Given the description of an element on the screen output the (x, y) to click on. 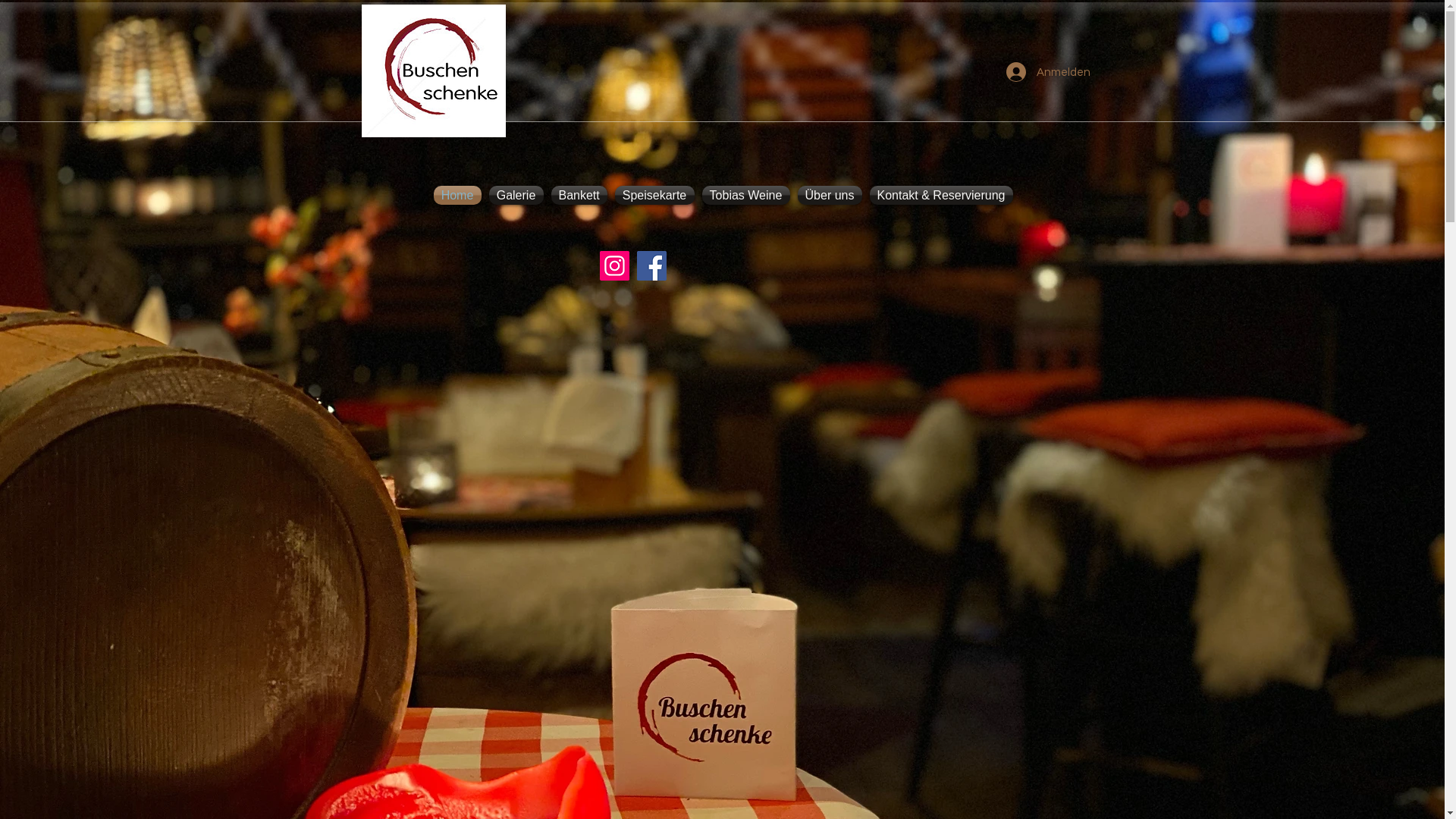
Tobias Weine Element type: text (745, 194)
Anmelden Element type: text (1039, 71)
Kontakt & Reservierung Element type: text (941, 194)
Galerie Element type: text (516, 194)
Bankett Element type: text (579, 194)
Speisekarte Element type: text (654, 194)
Home Element type: text (456, 194)
